Given the description of an element on the screen output the (x, y) to click on. 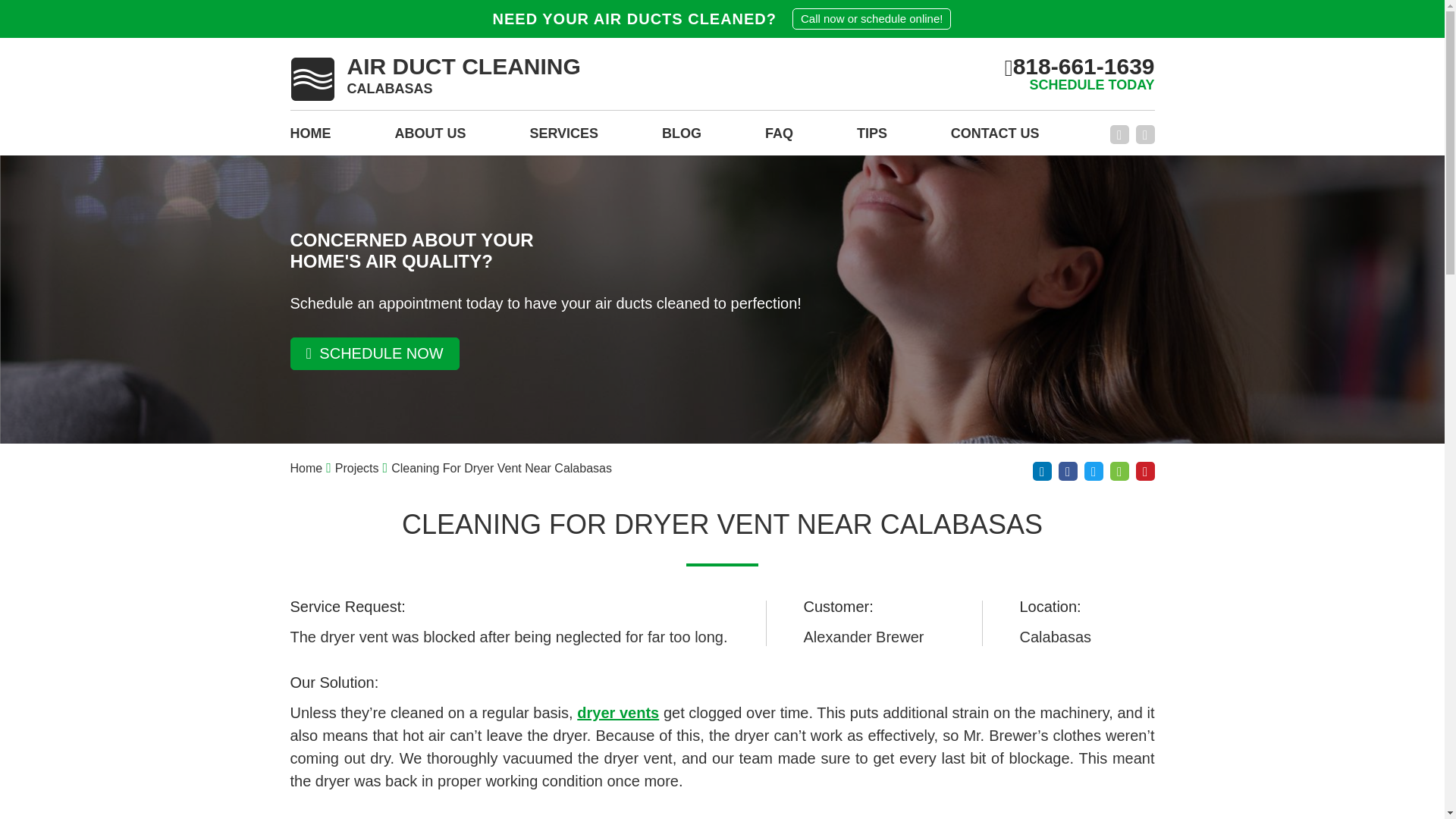
YouTube (1144, 134)
HOME (309, 138)
Linkedin (1041, 470)
Facebook (1119, 134)
Call now or schedule online! (871, 18)
BLOG (681, 138)
TIPS (871, 138)
Houzz (1119, 470)
Dryer vent cleaning (617, 712)
Air Duct Cleaning Calabasas (434, 79)
Twitter (434, 79)
SERVICES (1093, 470)
CONTACT US (563, 138)
Facebook (994, 138)
